Given the description of an element on the screen output the (x, y) to click on. 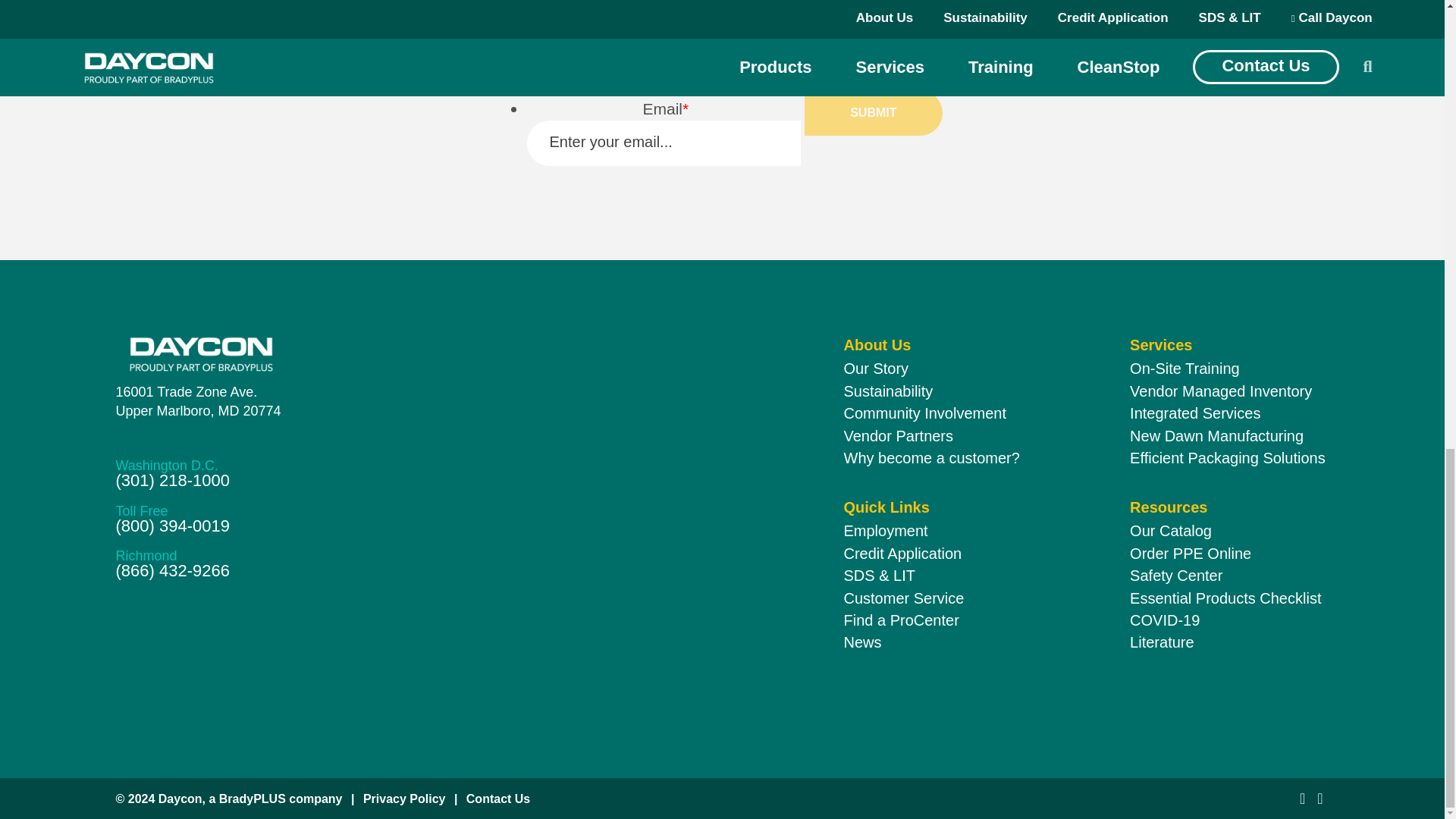
Submit (873, 112)
Sustainability (888, 391)
Our Story (198, 401)
Why become a customer? (875, 368)
Community Involvement (931, 457)
Vendor Partners (924, 412)
The homepage for Daycon (898, 435)
Submit (357, 353)
